Given the description of an element on the screen output the (x, y) to click on. 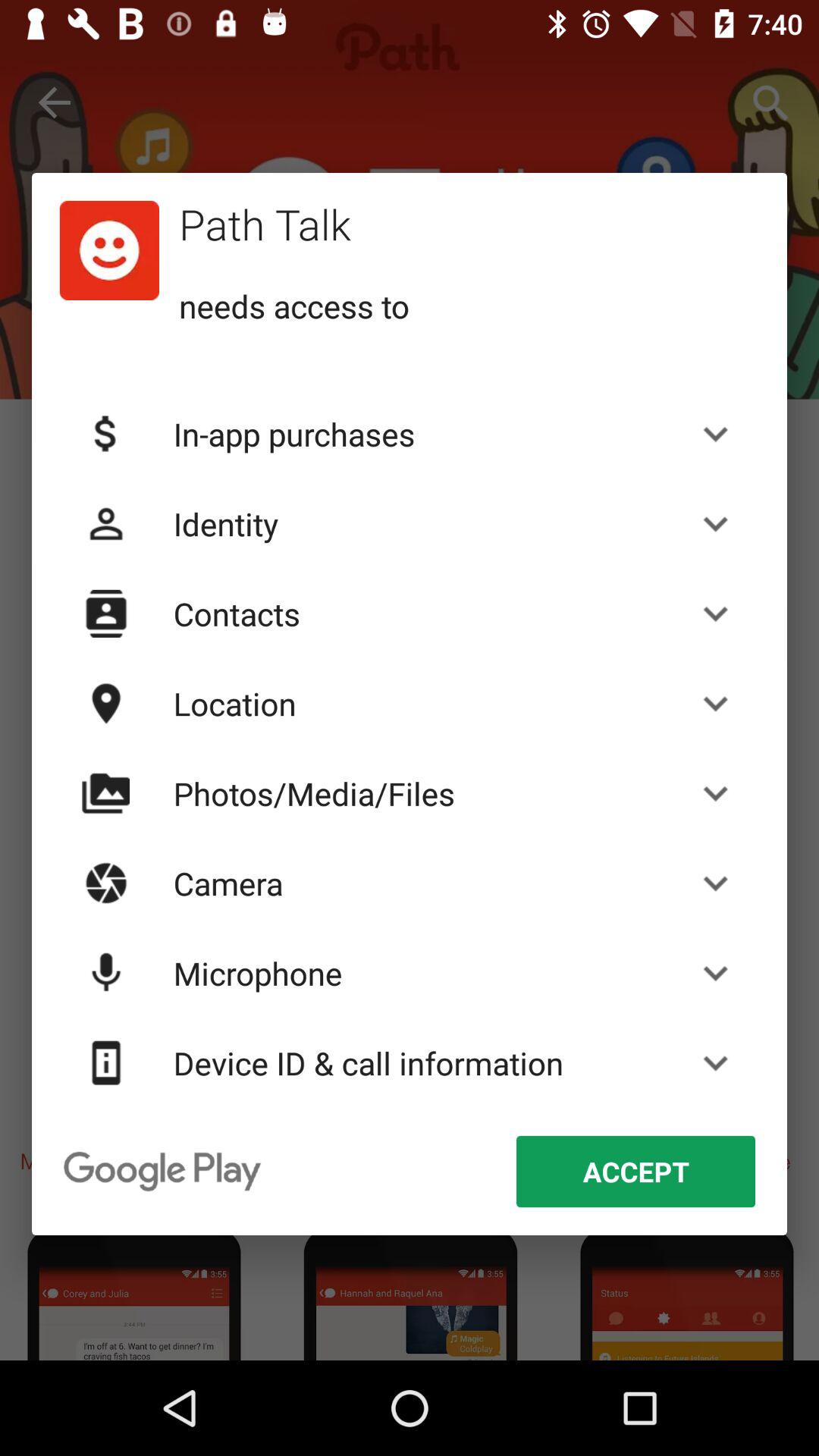
swipe to the accept item (635, 1171)
